Given the description of an element on the screen output the (x, y) to click on. 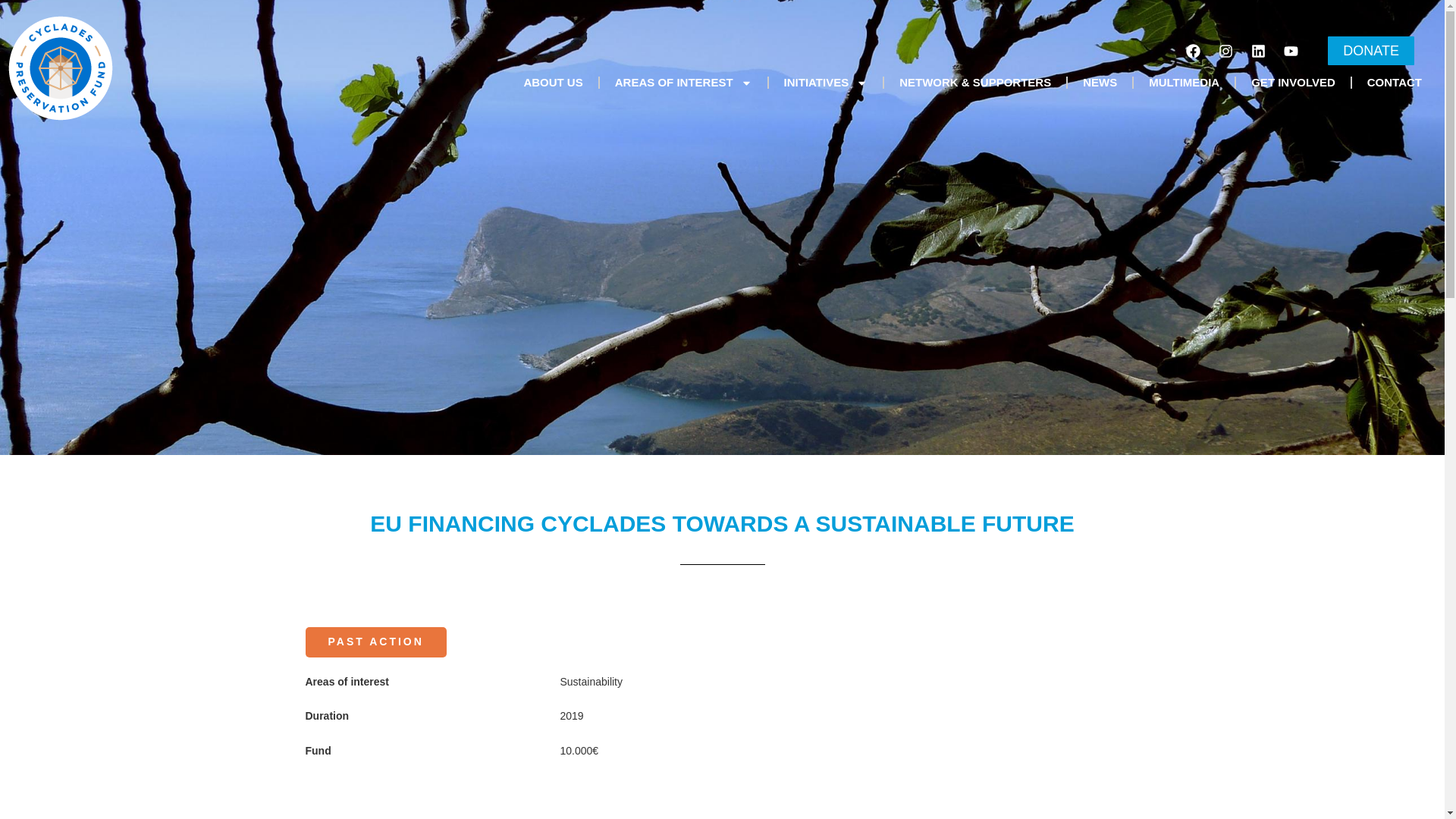
ABOUT US (552, 82)
AREAS OF INTEREST (683, 82)
DONATE (1370, 50)
